Given the description of an element on the screen output the (x, y) to click on. 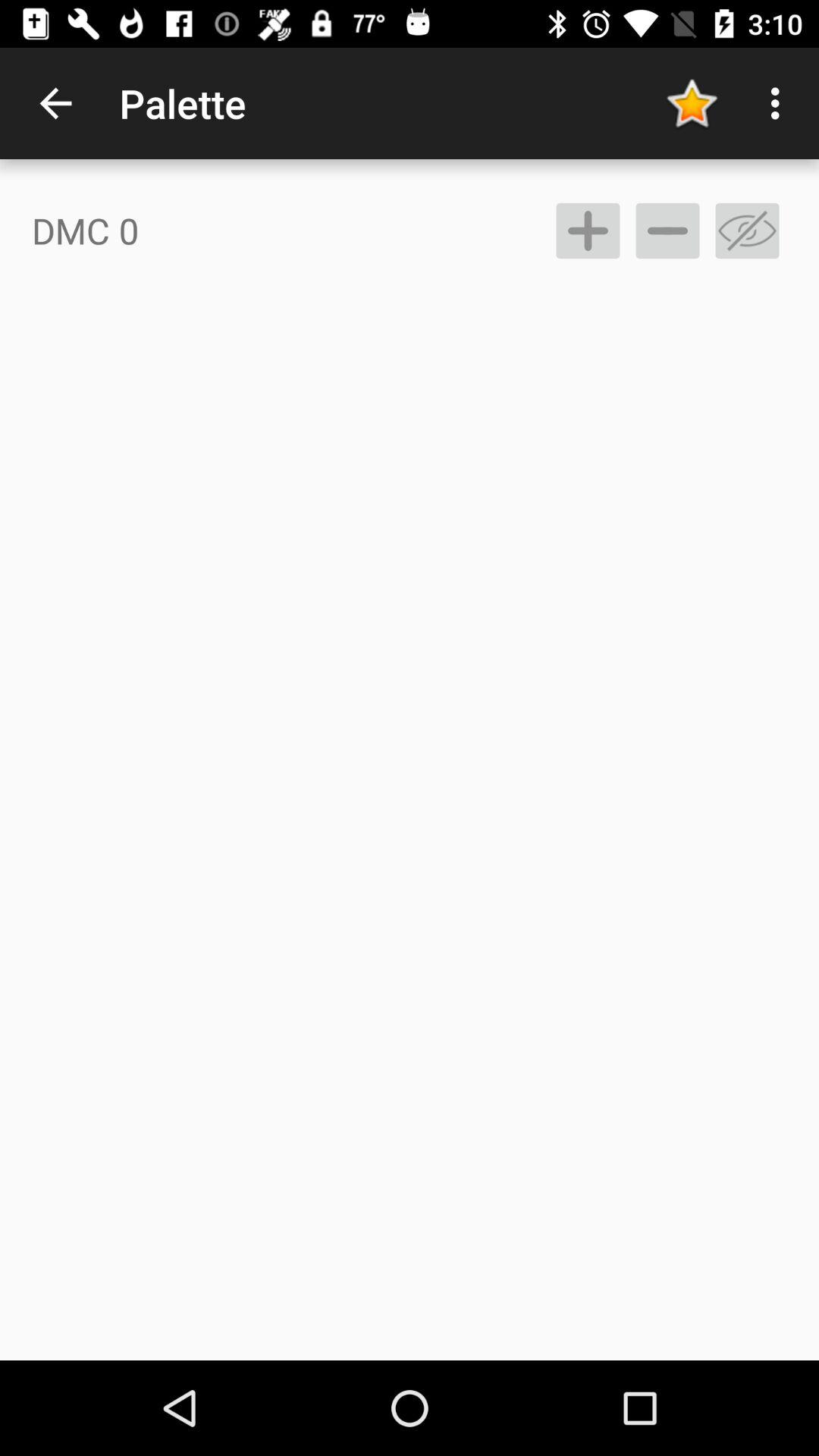
click icon to the left of the palette (55, 103)
